Given the description of an element on the screen output the (x, y) to click on. 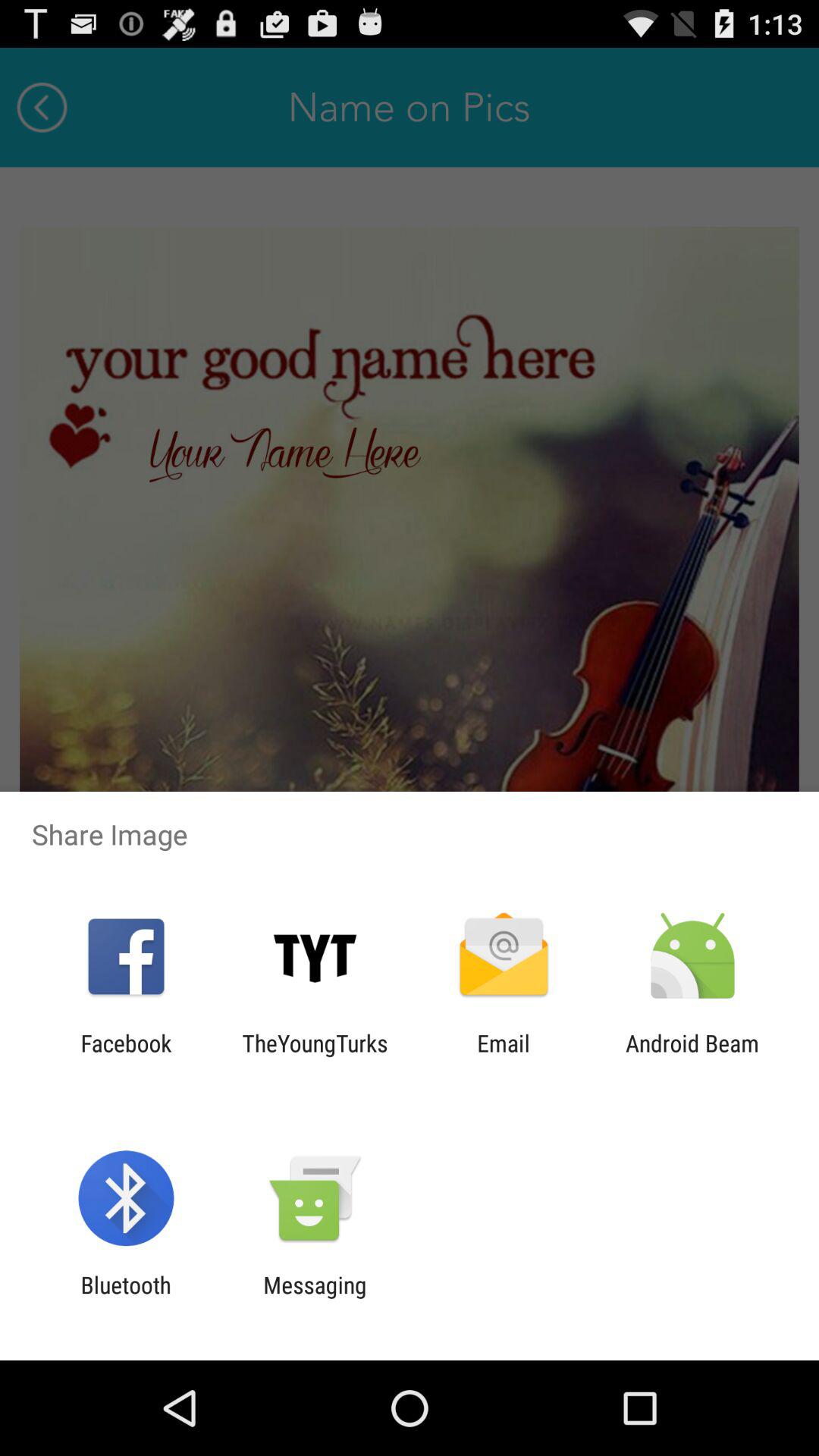
open the item to the right of bluetooth (314, 1298)
